Given the description of an element on the screen output the (x, y) to click on. 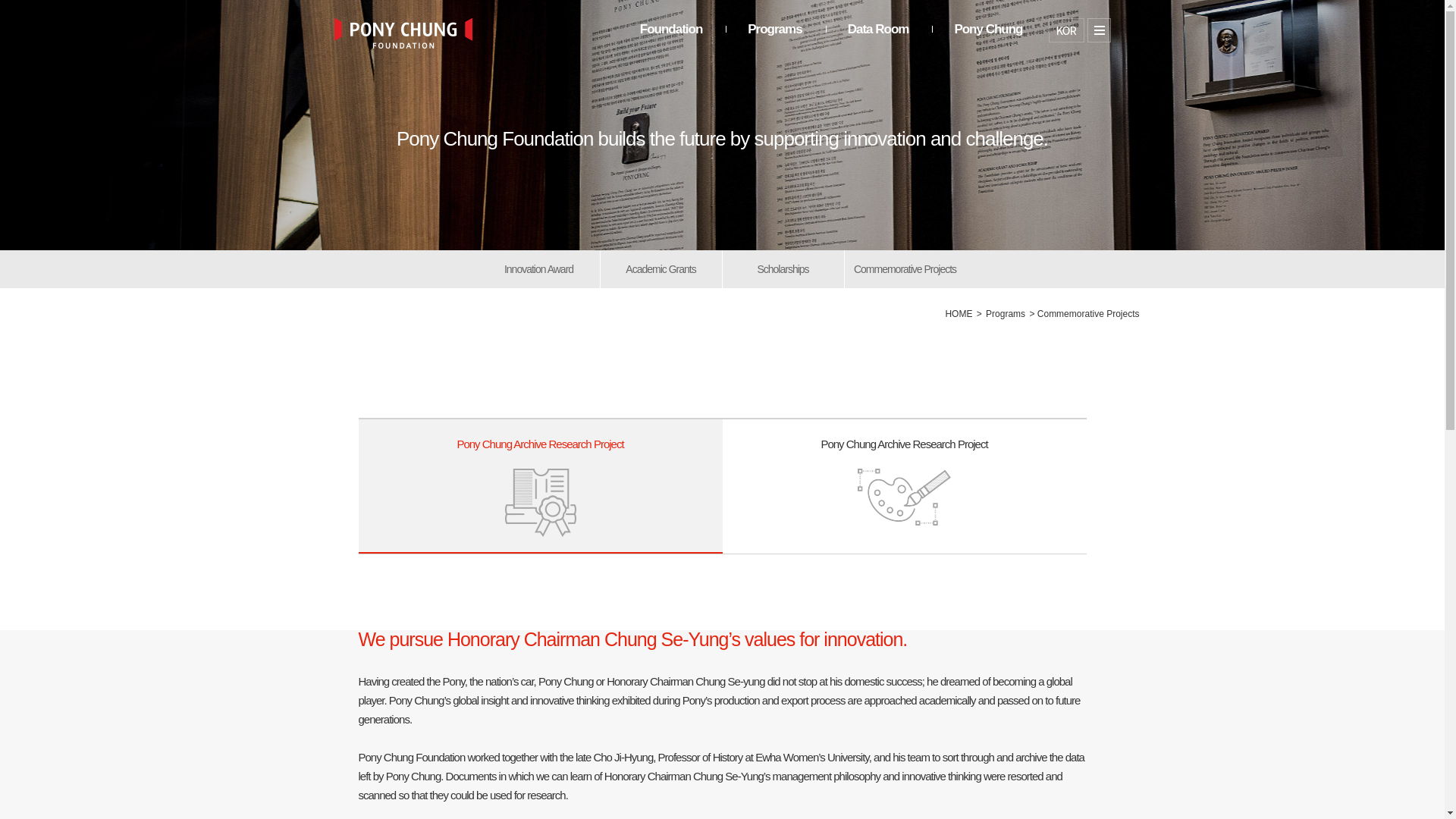
Foundation (671, 40)
Commemorative Projects (905, 269)
Innovation Award (540, 486)
HOME (537, 269)
Programs (958, 313)
Programs (775, 40)
Pony Chung (1005, 313)
Data Room (987, 40)
KOR (877, 40)
Academic Grants (1065, 30)
Scholarships (904, 485)
